Given the description of an element on the screen output the (x, y) to click on. 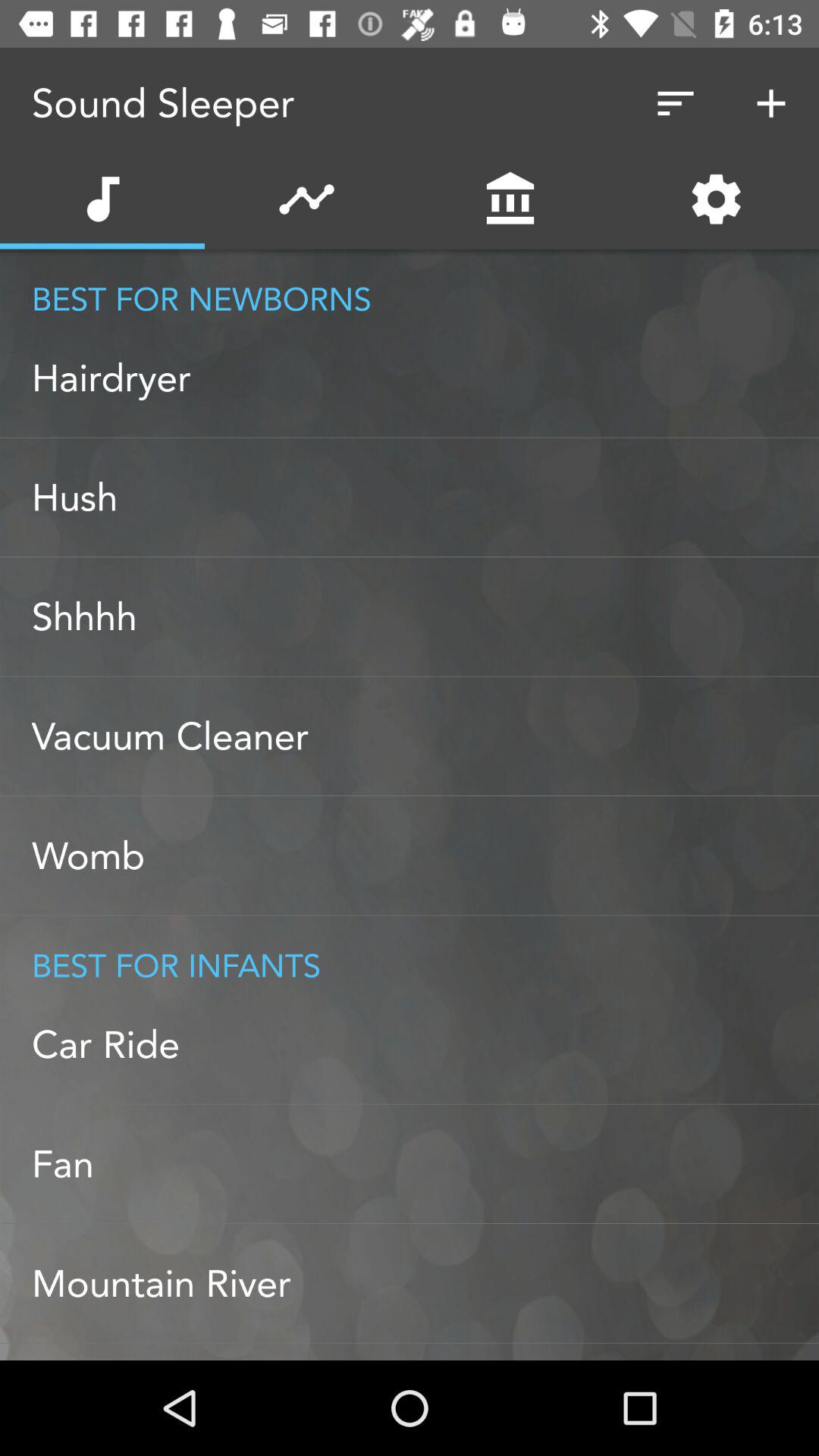
flip to womb item (425, 855)
